Given the description of an element on the screen output the (x, y) to click on. 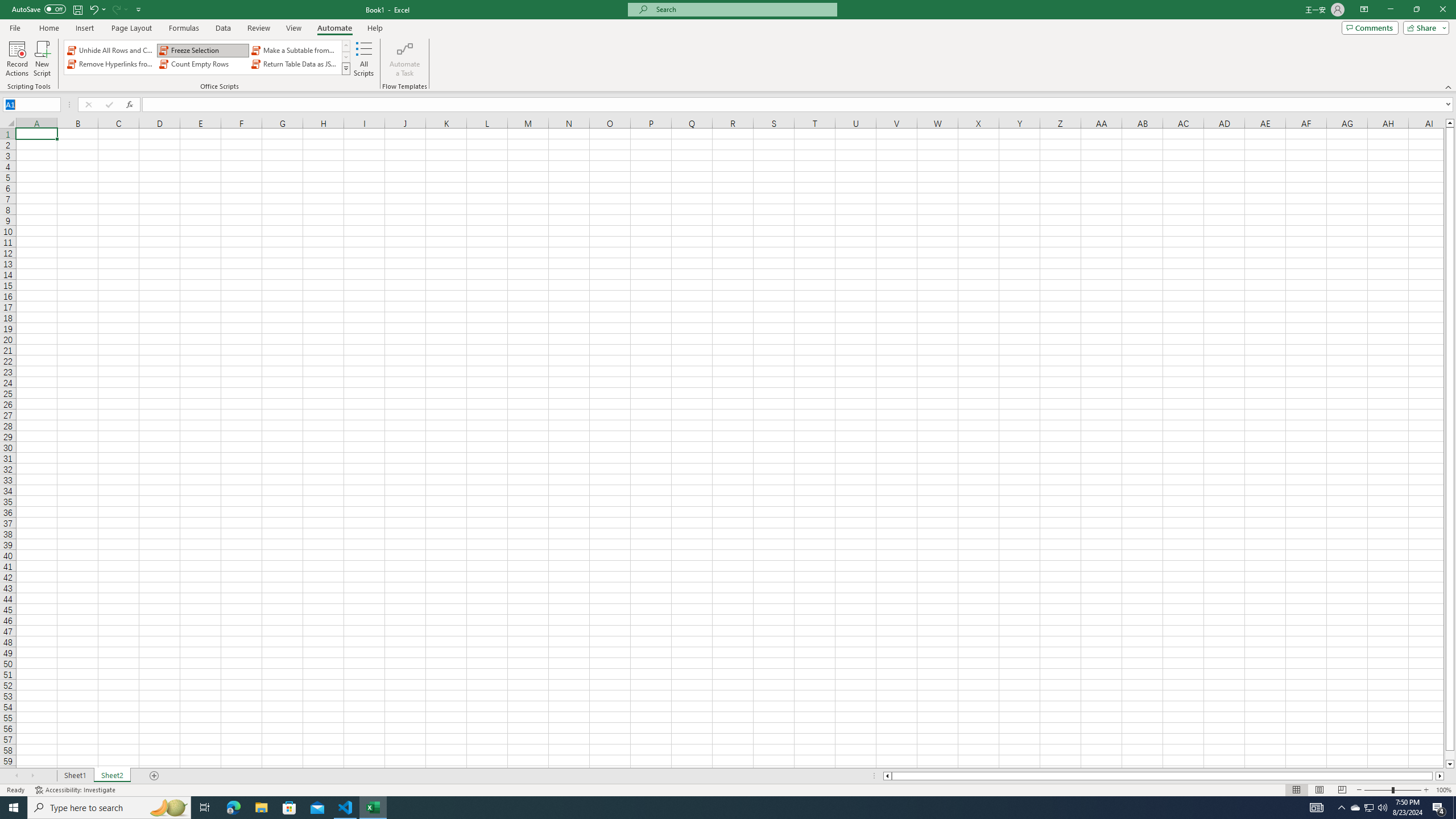
Class: MsoCommandBar (728, 45)
Automate a Task (404, 58)
Unhide All Rows and Columns (111, 50)
